Given the description of an element on the screen output the (x, y) to click on. 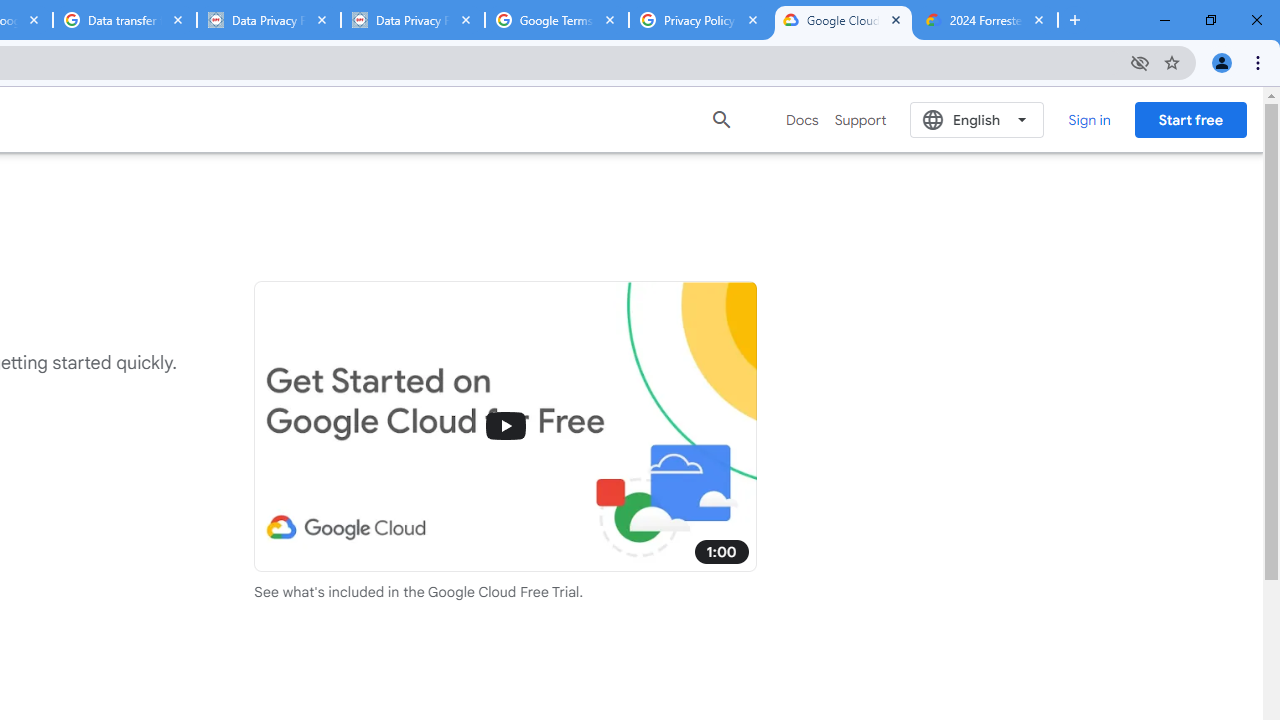
Start free (1190, 119)
